Given the description of an element on the screen output the (x, y) to click on. 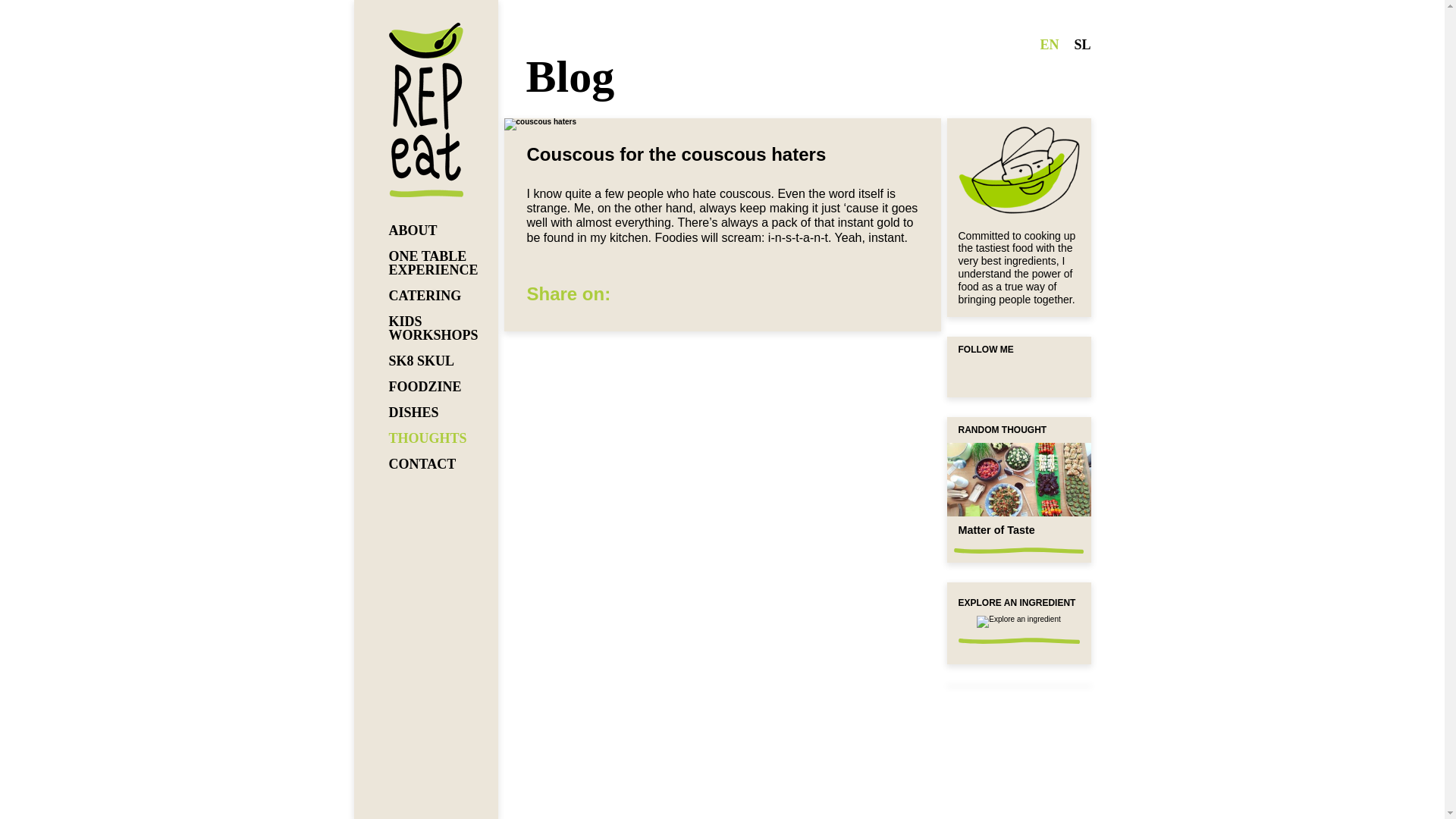
FOODZINE (424, 386)
Couscous Haters (539, 126)
KIDS WORKSHOPS (432, 328)
THOUGHTS (426, 437)
ABOUT (412, 230)
FB (1002, 374)
Matter of Taste (996, 530)
Explore an ingredient (1018, 621)
SL (1082, 44)
ONE TABLE EXPERIENCE (432, 262)
